Given the description of an element on the screen output the (x, y) to click on. 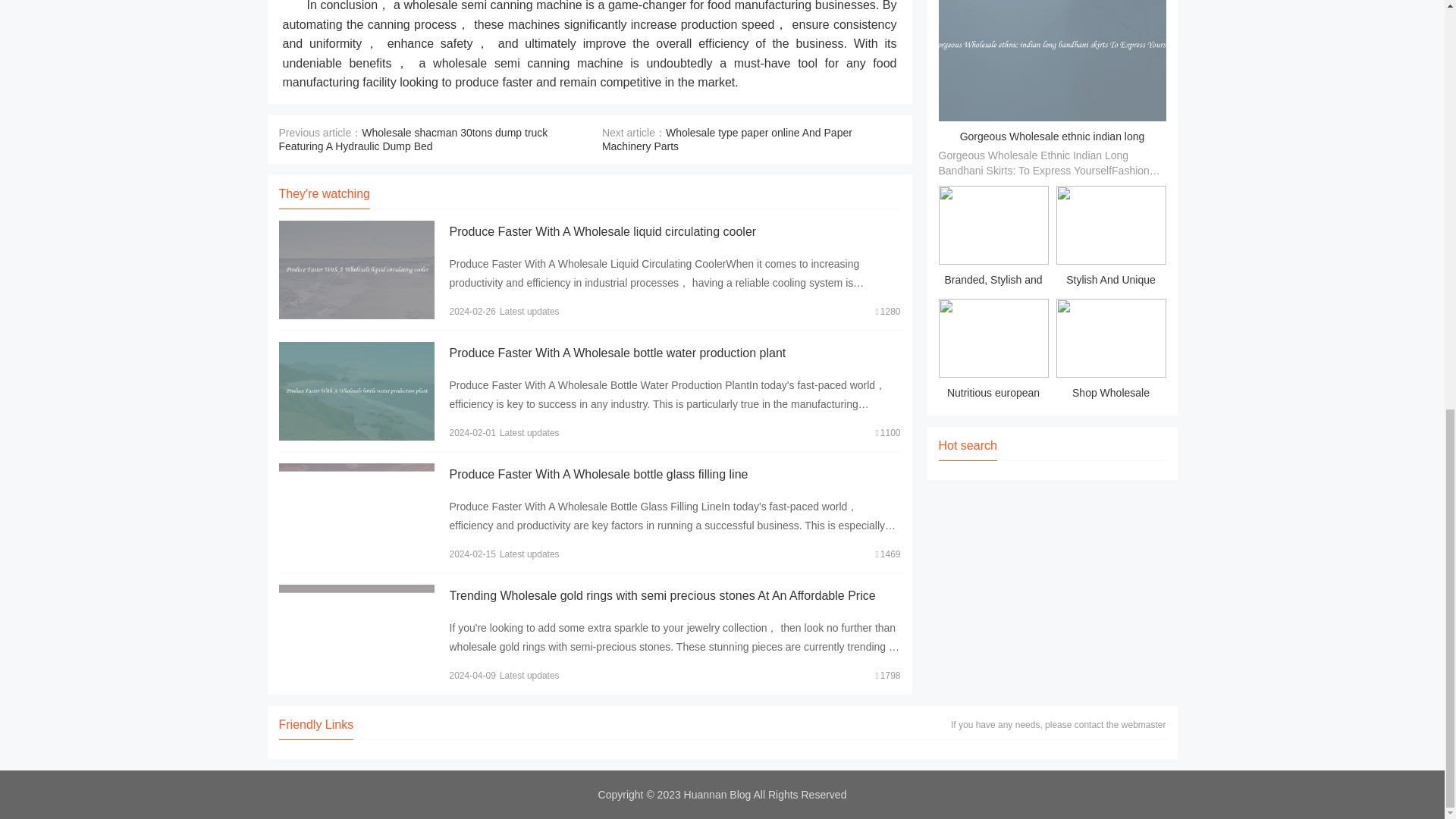
Nutritious european fruit market For Healthy Snacks (993, 351)
Produce Faster With A Wholesale bottle glass filling line (598, 473)
Produce Faster With A Wholesale liquid circulating cooler (601, 231)
Shop Wholesale Stuffed Animals And funny lay egg For Sale! (1110, 351)
Stylish And Unique plastic charger plate silver For Events (1110, 238)
Wholesale type paper online And Paper Machinery Parts (726, 139)
